Given the description of an element on the screen output the (x, y) to click on. 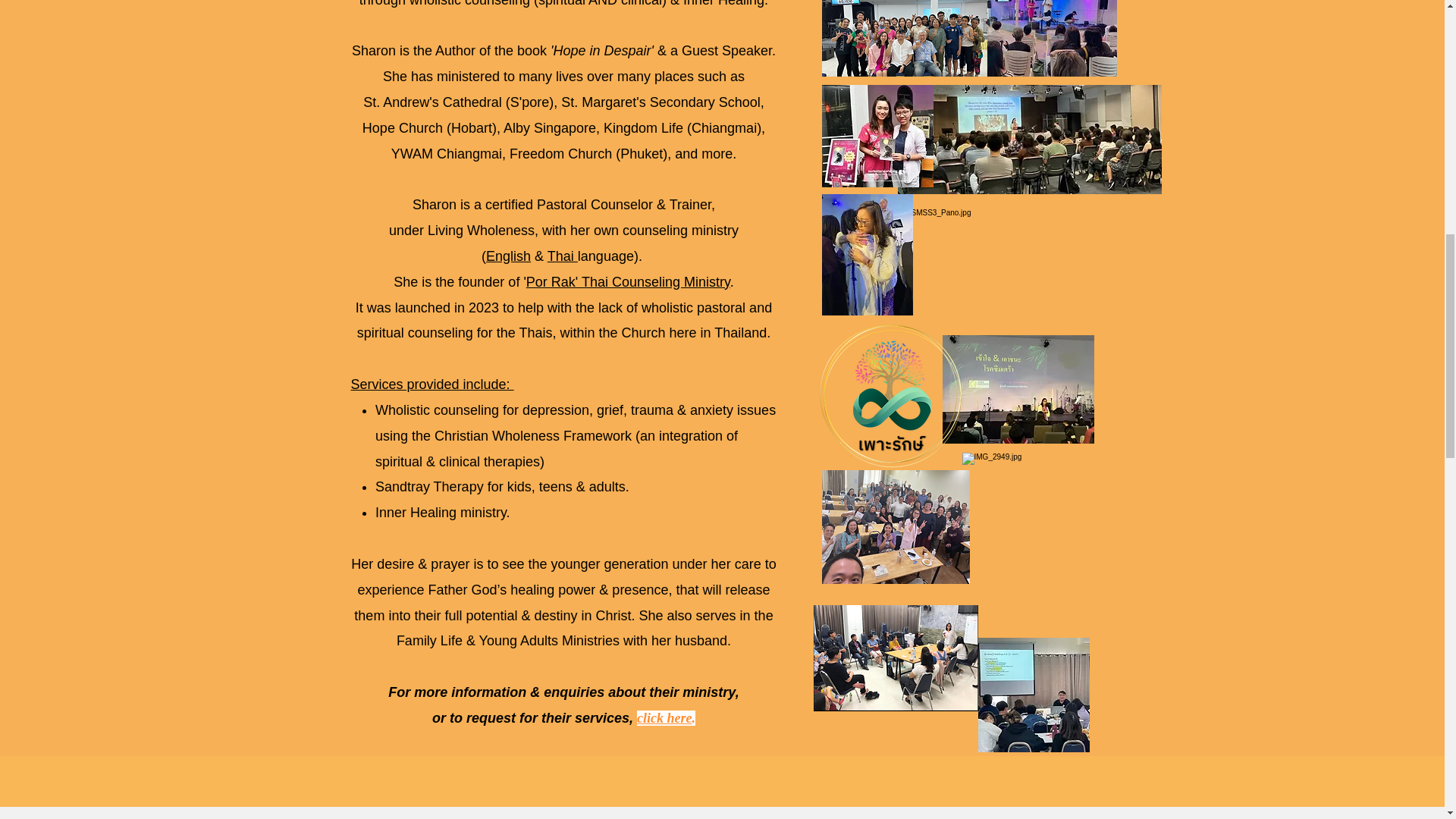
click here (664, 717)
Thai (562, 255)
Por Rak' Thai Counseling Ministry (627, 281)
English (508, 255)
